Given the description of an element on the screen output the (x, y) to click on. 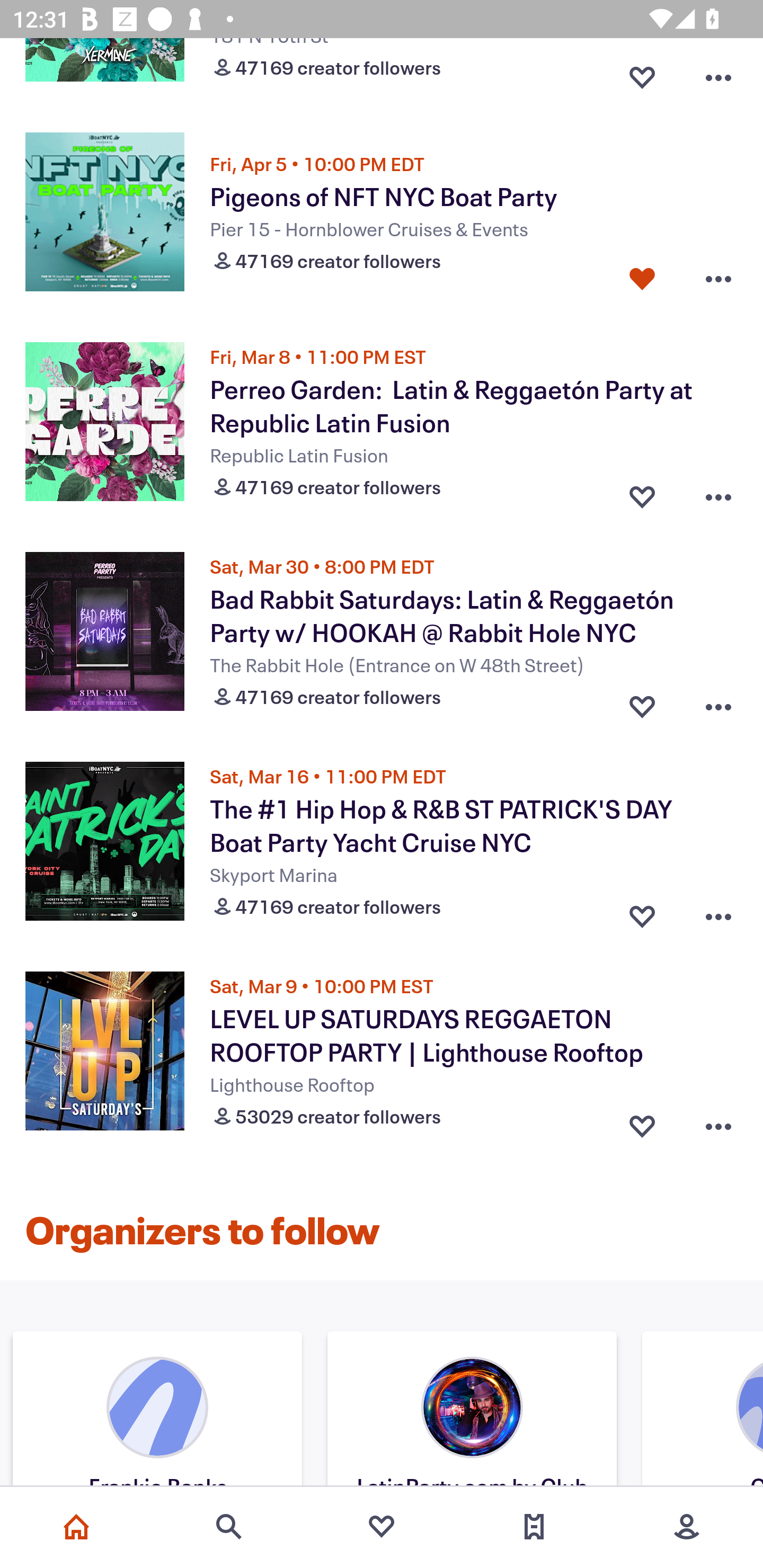
Favorite button (642, 72)
Overflow menu button (718, 72)
Favorite button (642, 278)
Overflow menu button (718, 278)
Favorite button (642, 492)
Overflow menu button (718, 492)
Favorite button (642, 702)
Overflow menu button (718, 702)
Favorite button (642, 911)
Overflow menu button (718, 911)
Favorite button (642, 1121)
Overflow menu button (718, 1121)
Organizer's image Frankie Banks (157, 1411)
Organizer's image LatinParty.com by Club Cache (471, 1411)
Home (76, 1526)
Search events (228, 1526)
Favorites (381, 1526)
Tickets (533, 1526)
More (686, 1526)
